Given the description of an element on the screen output the (x, y) to click on. 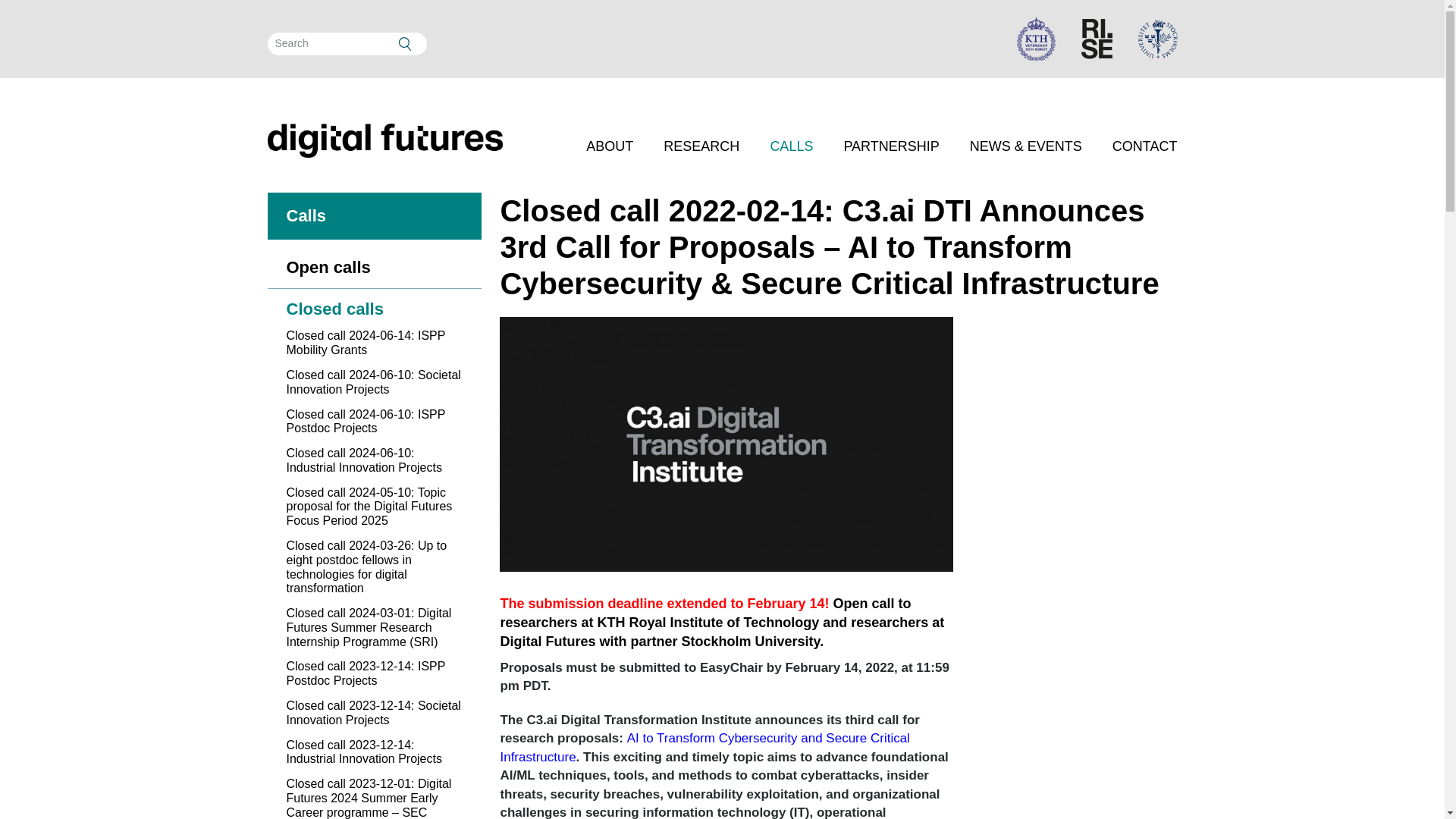
CALLS (791, 145)
PARTNERSHIP (891, 145)
ABOUT (609, 145)
RESEARCH (701, 145)
